Given the description of an element on the screen output the (x, y) to click on. 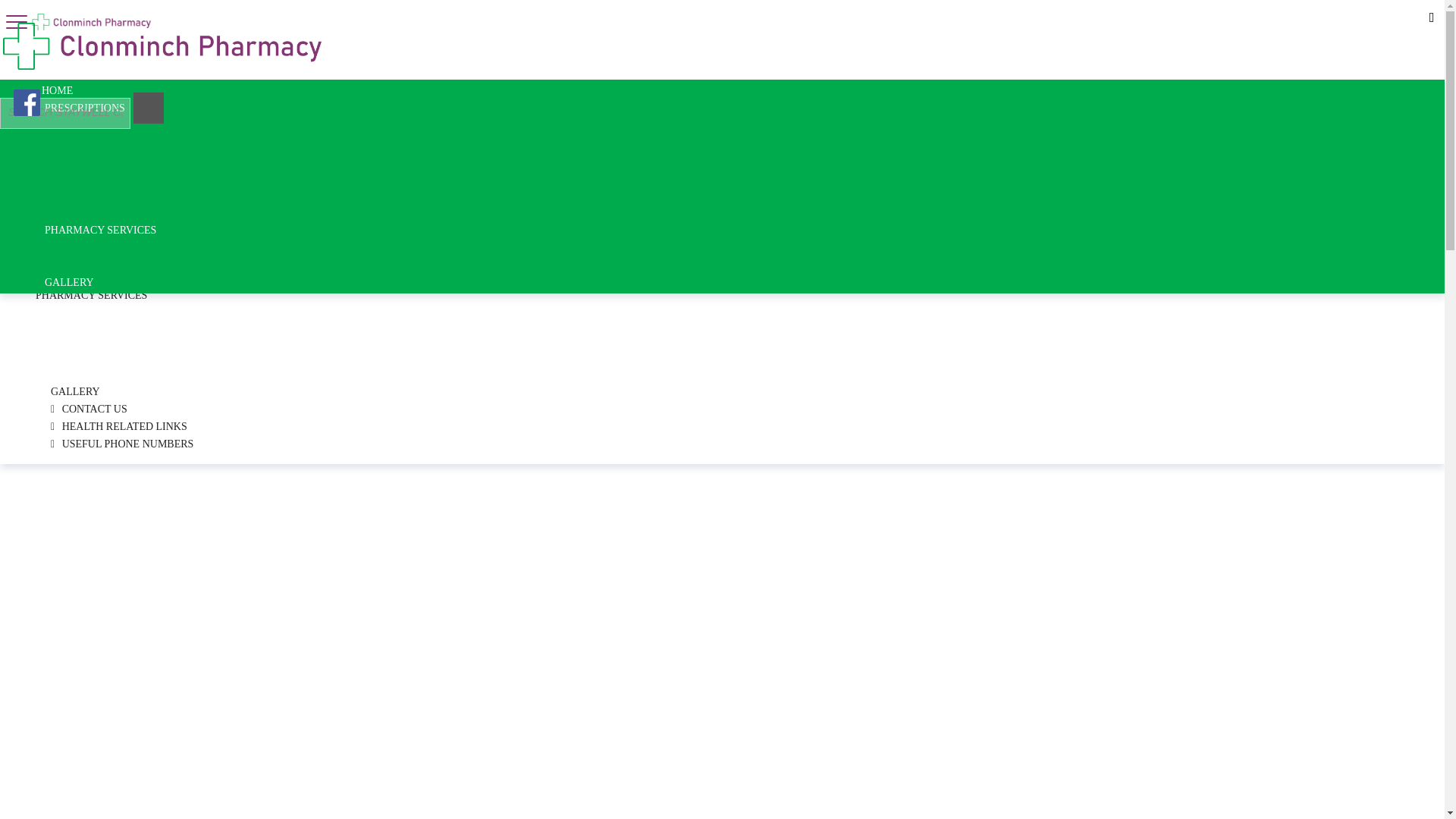
PHARMACY SERVICES (88, 409)
GALLERY (90, 295)
USEFUL PHONE NUMBERS (69, 282)
PRESCRIPTIONS (121, 444)
PRESCRIPTIONS (75, 120)
HOME (84, 107)
GALLERY (63, 102)
HEALTH RELATED LINKS (74, 391)
Useful Phone Numbers (118, 426)
Health Related Links (227, 14)
Contact Us (116, 14)
HOME (30, 14)
